Given the description of an element on the screen output the (x, y) to click on. 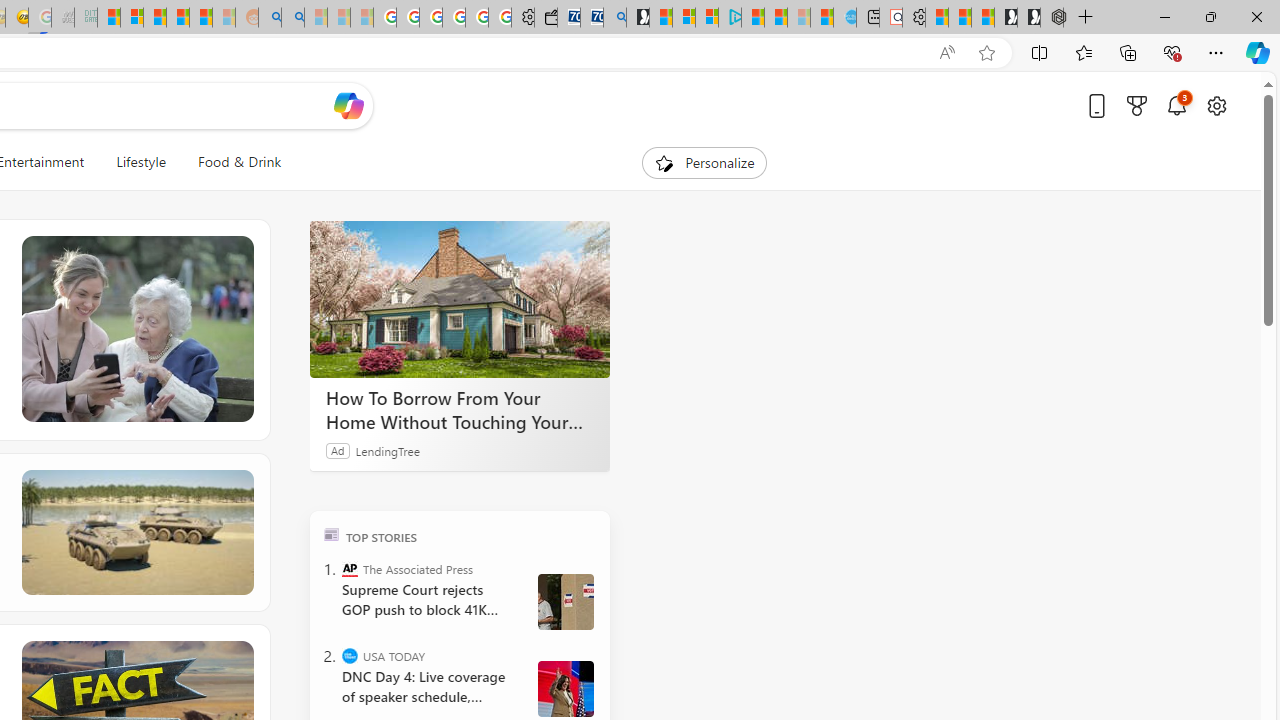
Bing Real Estate - Home sales and rental listings (614, 17)
Student Loan Update: Forgiveness Program Ends This Month (200, 17)
Wallet (545, 17)
